Given the description of an element on the screen output the (x, y) to click on. 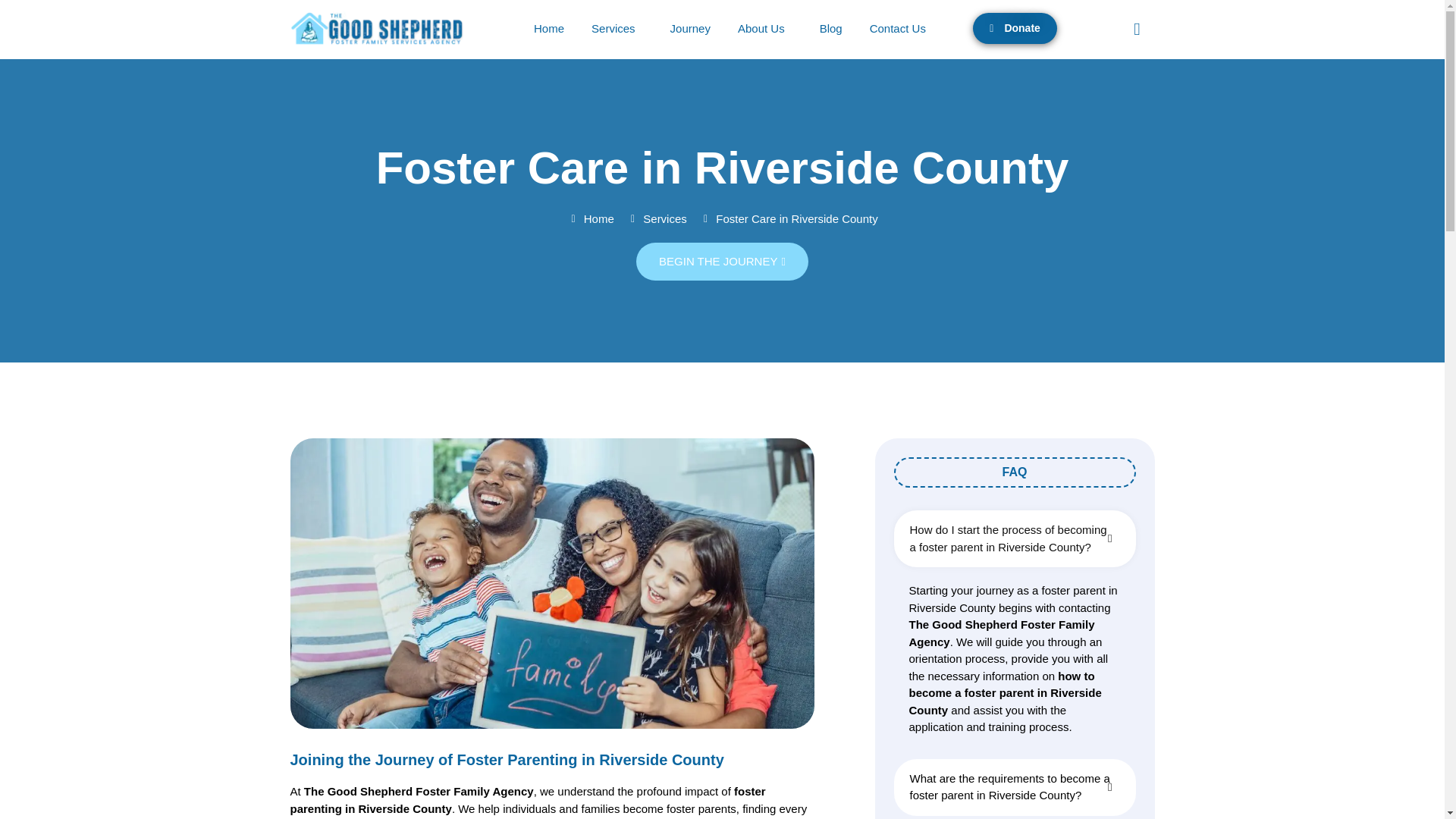
Contact Us (897, 28)
BEGIN THE JOURNEY (722, 261)
Journey (689, 28)
About Us (764, 28)
Services (617, 28)
Services (656, 219)
Home (590, 219)
Home (548, 28)
Blog (831, 28)
Donate (1014, 28)
